Given the description of an element on the screen output the (x, y) to click on. 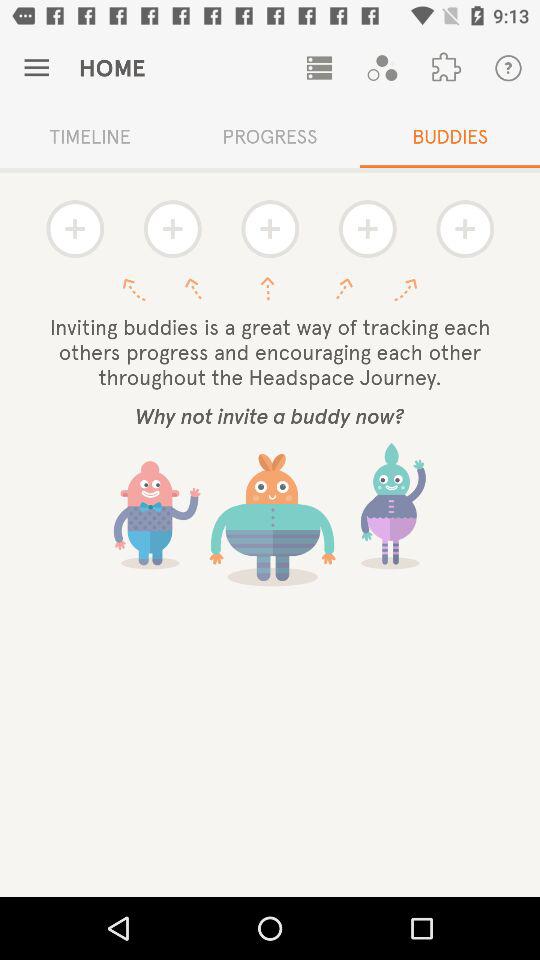
press the icon above progress icon (319, 67)
